Given the description of an element on the screen output the (x, y) to click on. 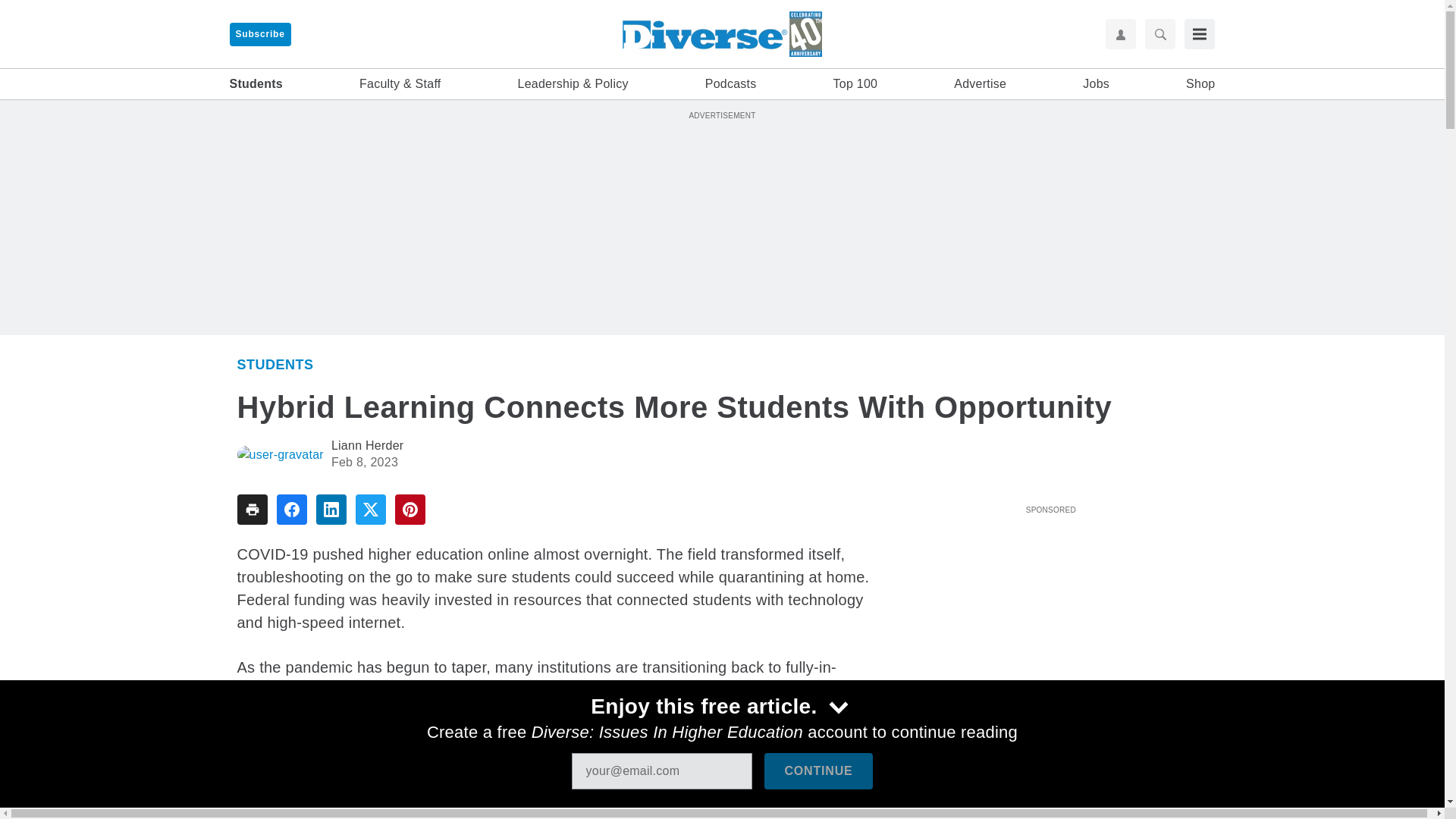
Shop (1200, 84)
Students (274, 364)
Share To pinterest (409, 509)
Jobs (1096, 84)
Top 100 (854, 84)
Subscribe (258, 33)
Students (255, 84)
Subscribe (258, 33)
Share To print (250, 509)
Share To twitter (370, 509)
